Given the description of an element on the screen output the (x, y) to click on. 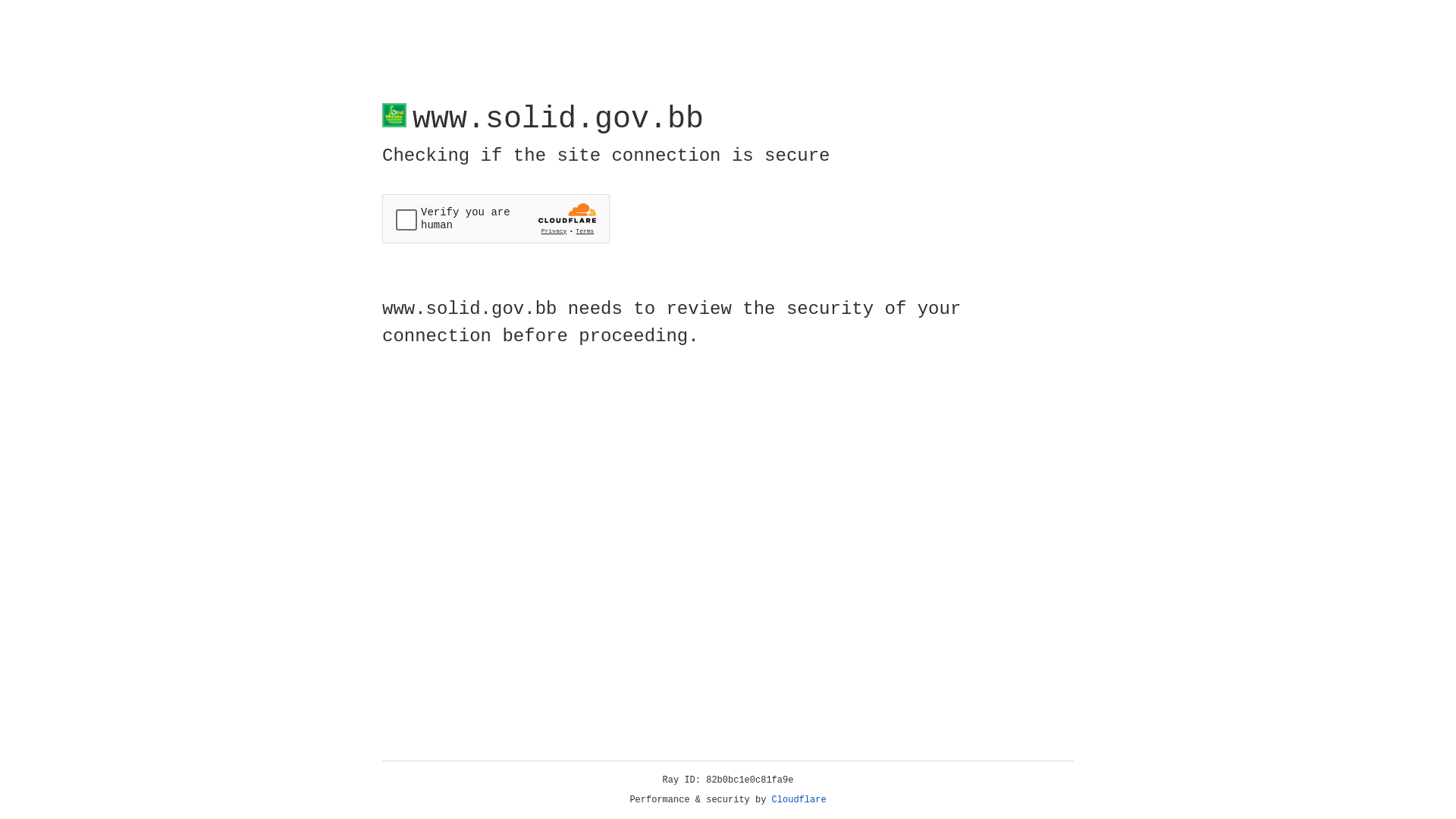
Cloudflare Element type: text (798, 799)
Widget containing a Cloudflare security challenge Element type: hover (495, 218)
